Given the description of an element on the screen output the (x, y) to click on. 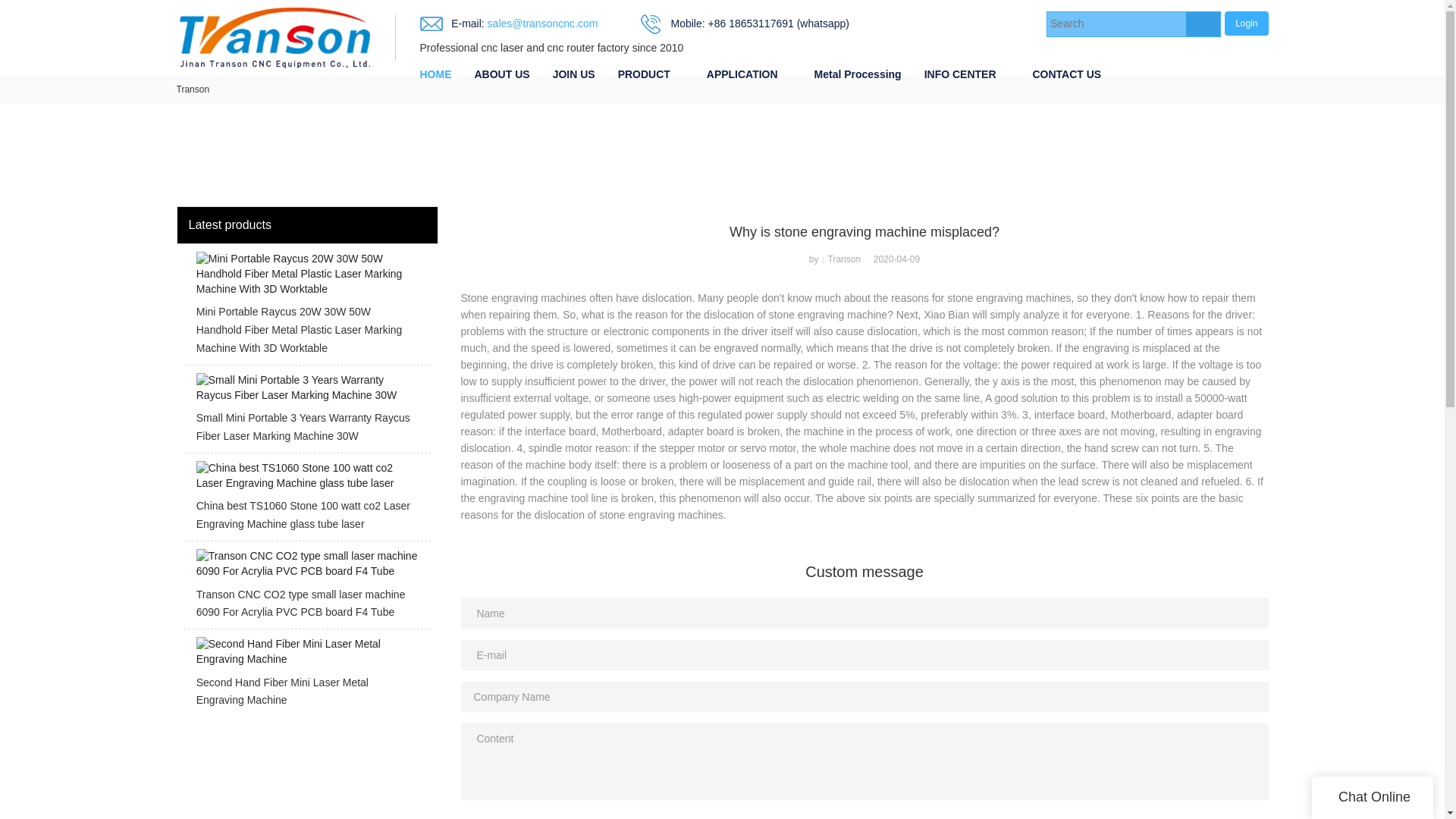
PRODUCT (644, 74)
HOME (435, 74)
JOIN US (574, 74)
Login (1245, 23)
APPLICATION (742, 74)
ABOUT US (501, 74)
